Given the description of an element on the screen output the (x, y) to click on. 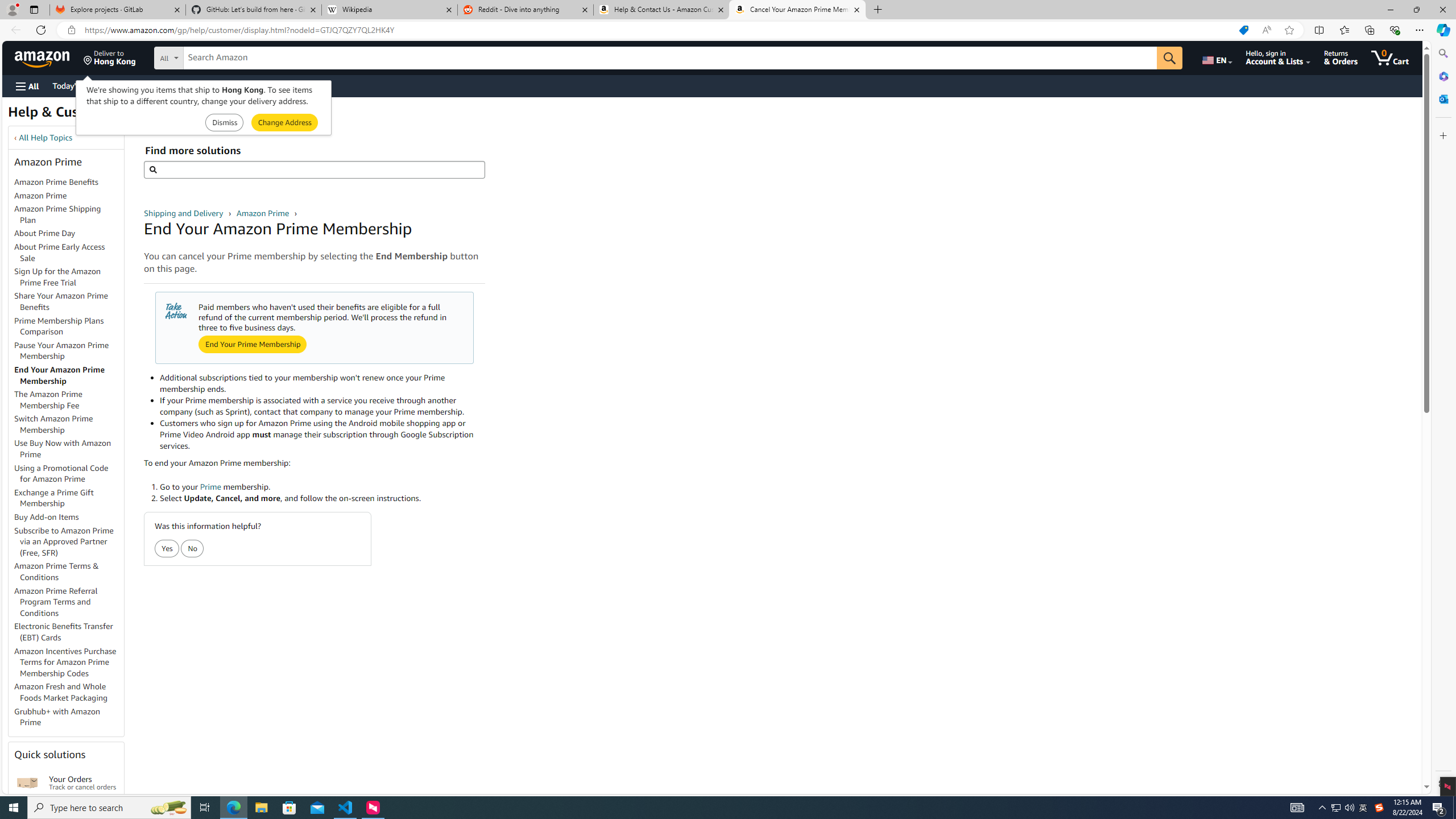
End Your Amazon Prime Membership (68, 375)
Switch Amazon Prime Membership (53, 423)
Wikipedia (390, 9)
Search Amazon (670, 57)
Deliver to Hong Kong (109, 57)
Switch Amazon Prime Membership (68, 424)
Go to your Prime membership. (322, 486)
Buy Add-on Items (46, 516)
About Prime Day (44, 233)
Use Buy Now with Amazon Prime (63, 449)
